Given the description of an element on the screen output the (x, y) to click on. 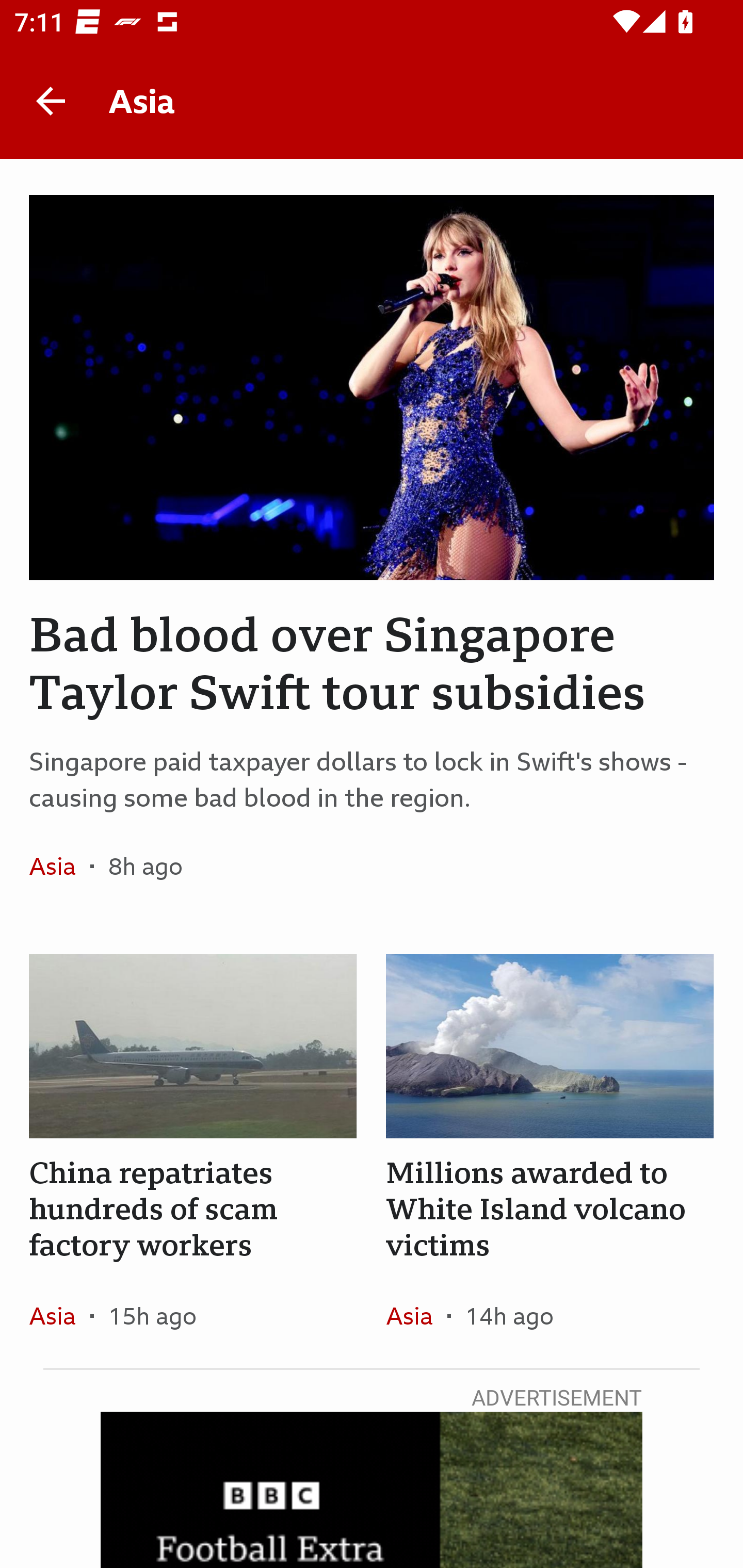
Back (50, 101)
Asia In the section Asia (59, 865)
Asia In the section Asia (59, 1315)
Asia In the section Asia (416, 1315)
